Given the description of an element on the screen output the (x, y) to click on. 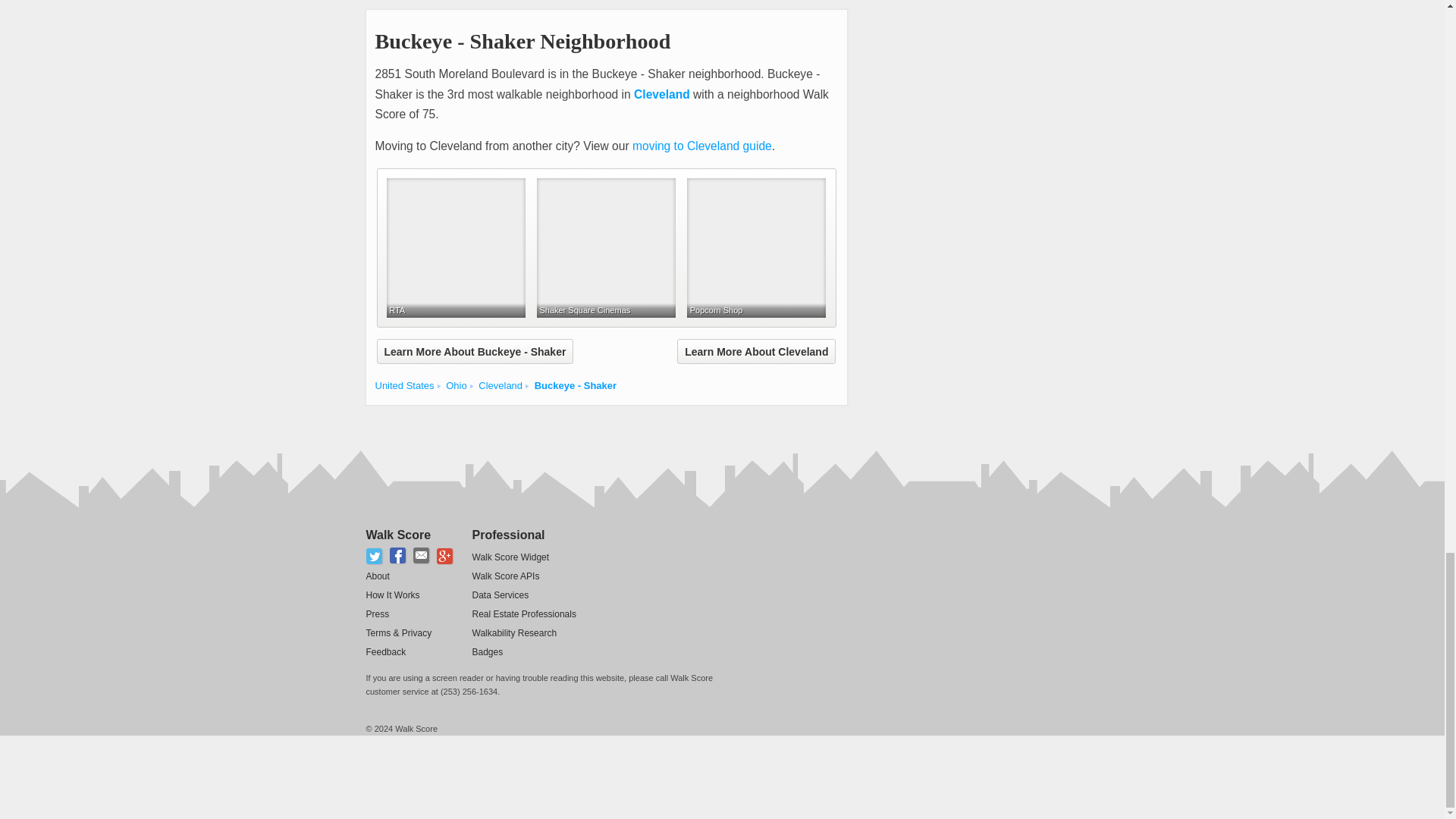
United States Walkability Rankings (403, 385)
Cleveland (661, 93)
Cities in Ohio state (455, 385)
moving to Cleveland guide (701, 145)
